Given the description of an element on the screen output the (x, y) to click on. 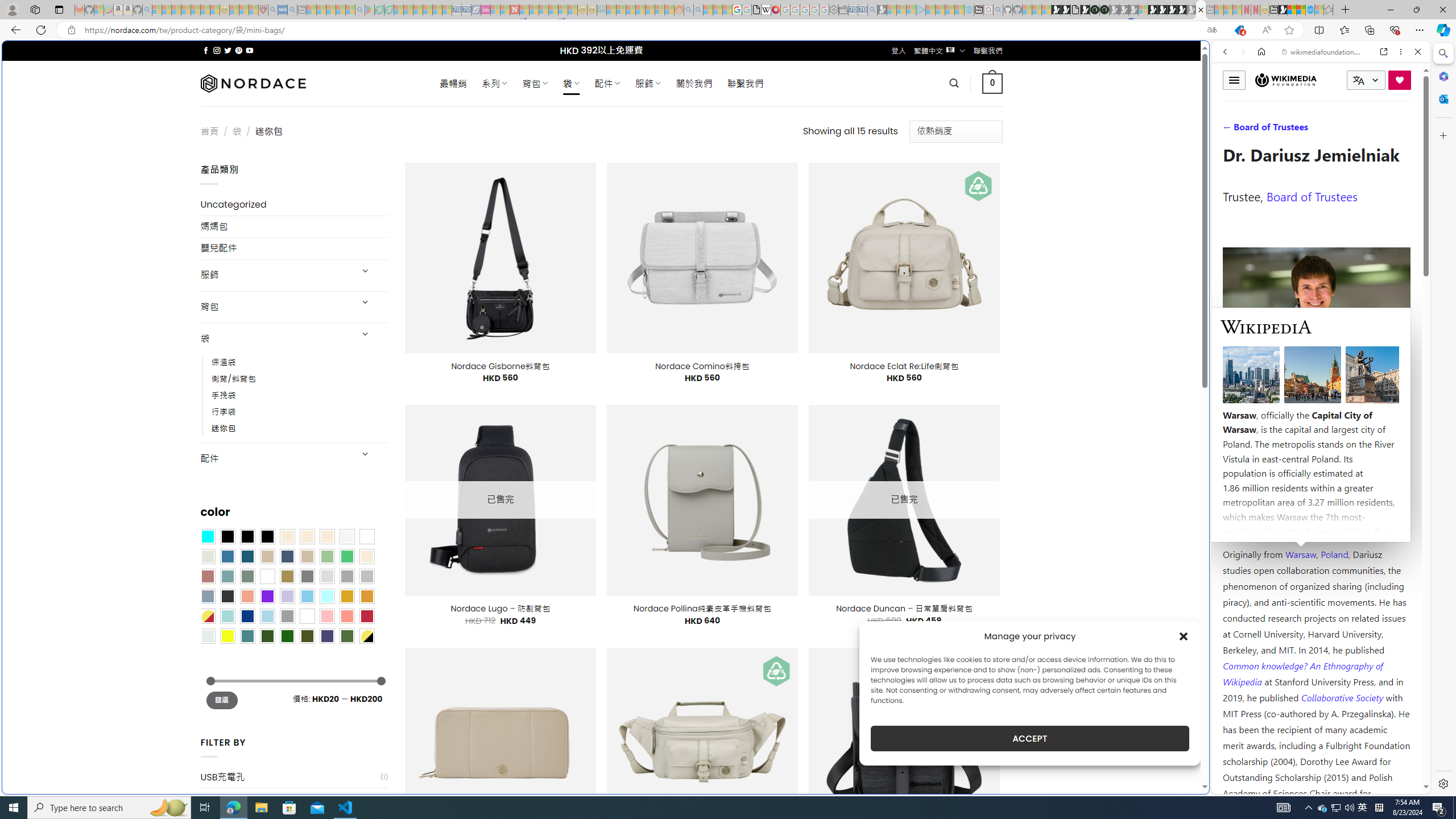
Preferences (1403, 129)
Nordace (252, 83)
Home | Sky Blue Bikes - Sky Blue Bikes - Sleeping (968, 9)
 0  (992, 83)
Class: cmplz-close (1183, 636)
google_privacy_policy_zh-CN.pdf (755, 9)
MediaWiki (774, 9)
